Given the description of an element on the screen output the (x, y) to click on. 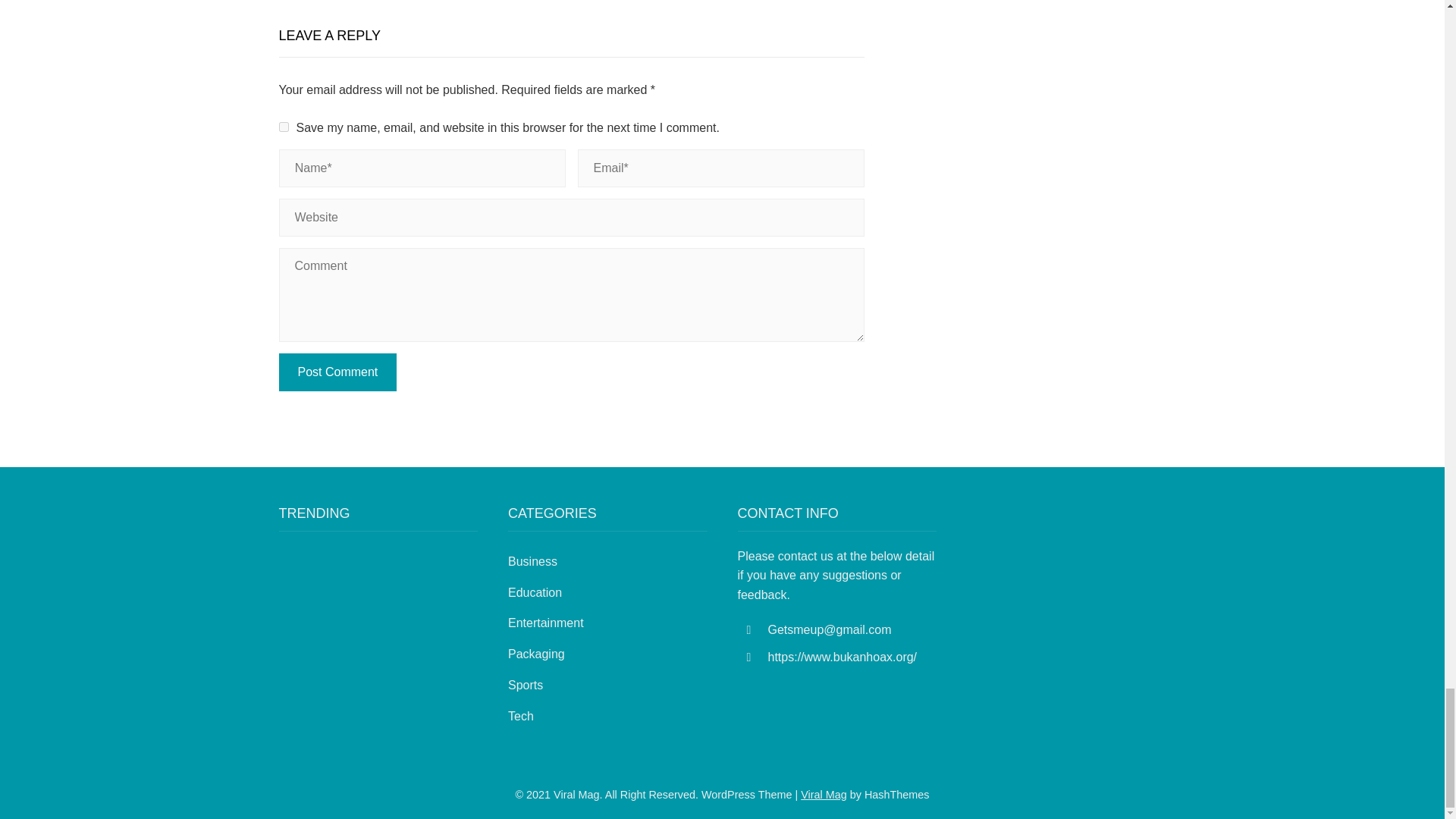
Post Comment (338, 371)
Post Comment (338, 371)
yes (283, 126)
Download Viral News (823, 794)
